Given the description of an element on the screen output the (x, y) to click on. 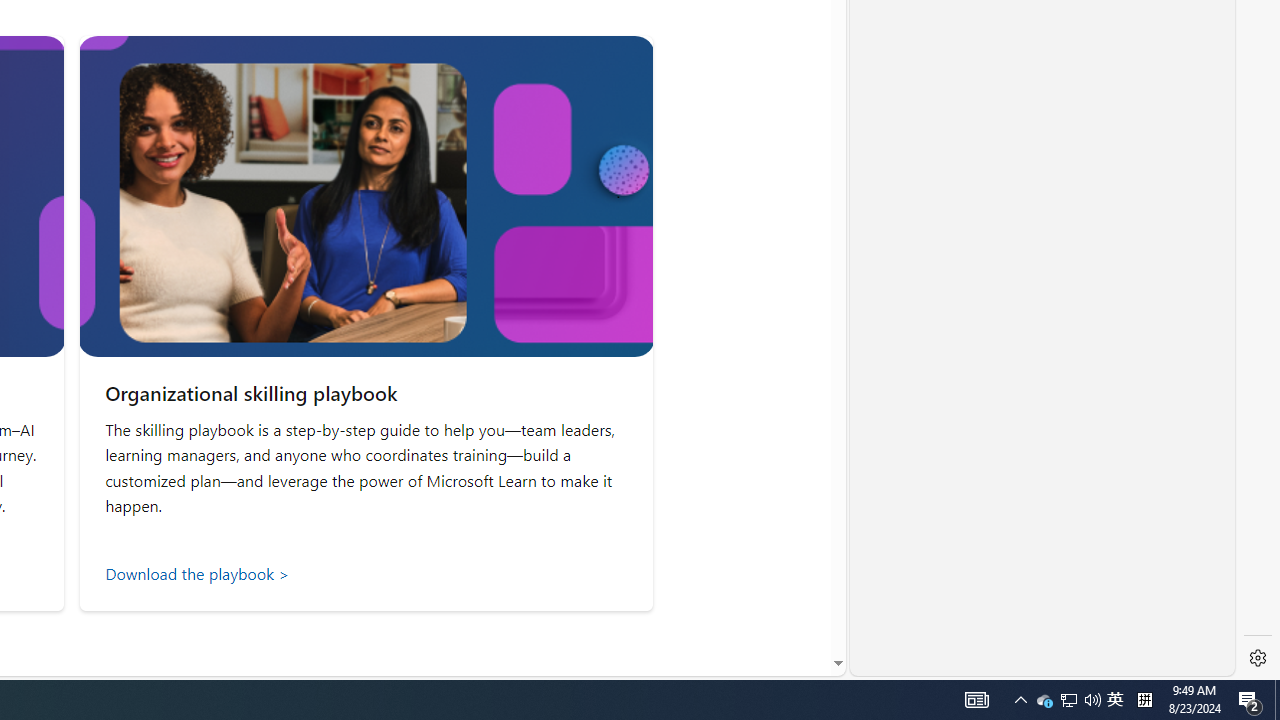
Download the playbook > (366, 573)
